Given the description of an element on the screen output the (x, y) to click on. 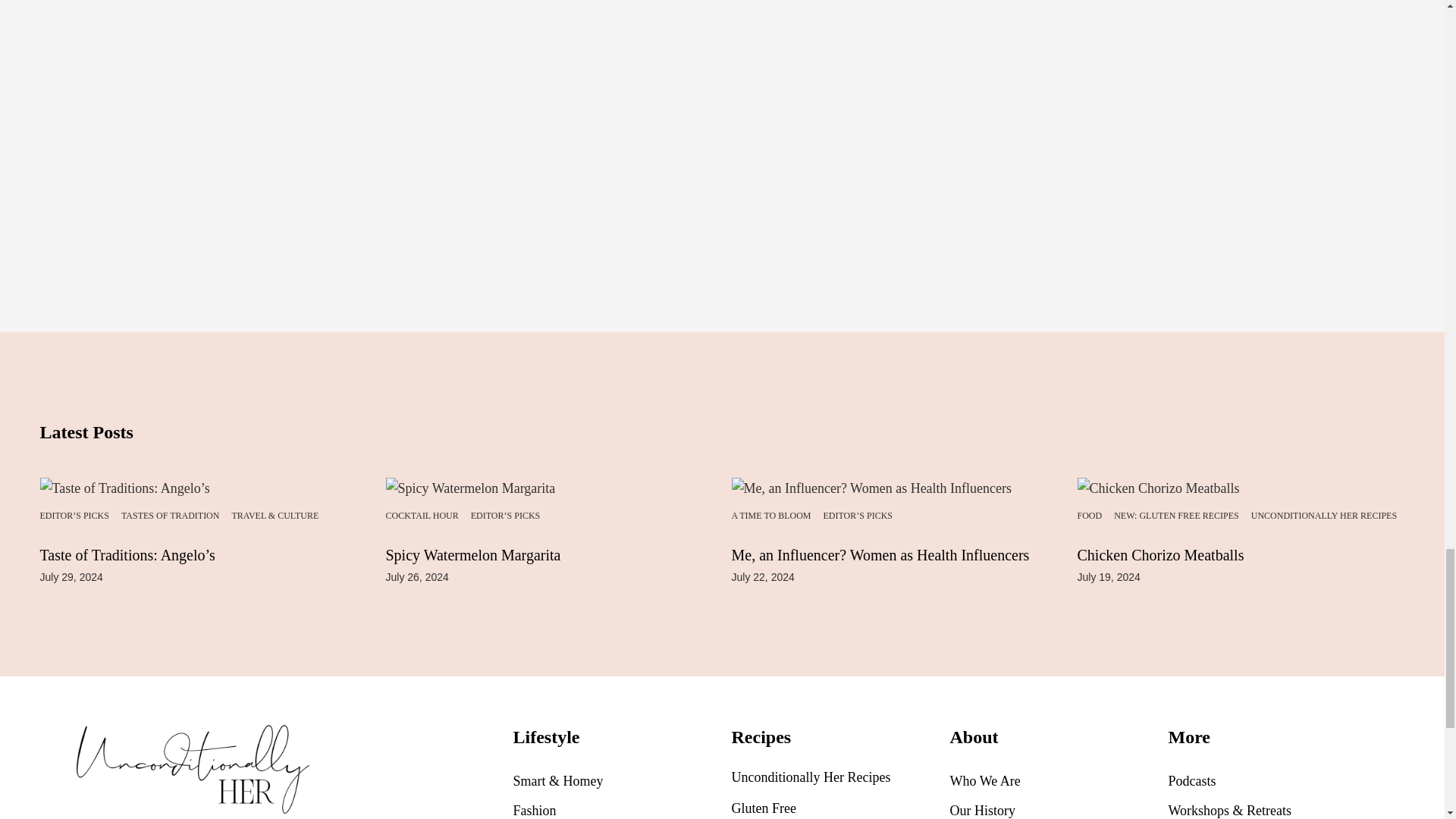
Comment Form (721, 117)
